Given the description of an element on the screen output the (x, y) to click on. 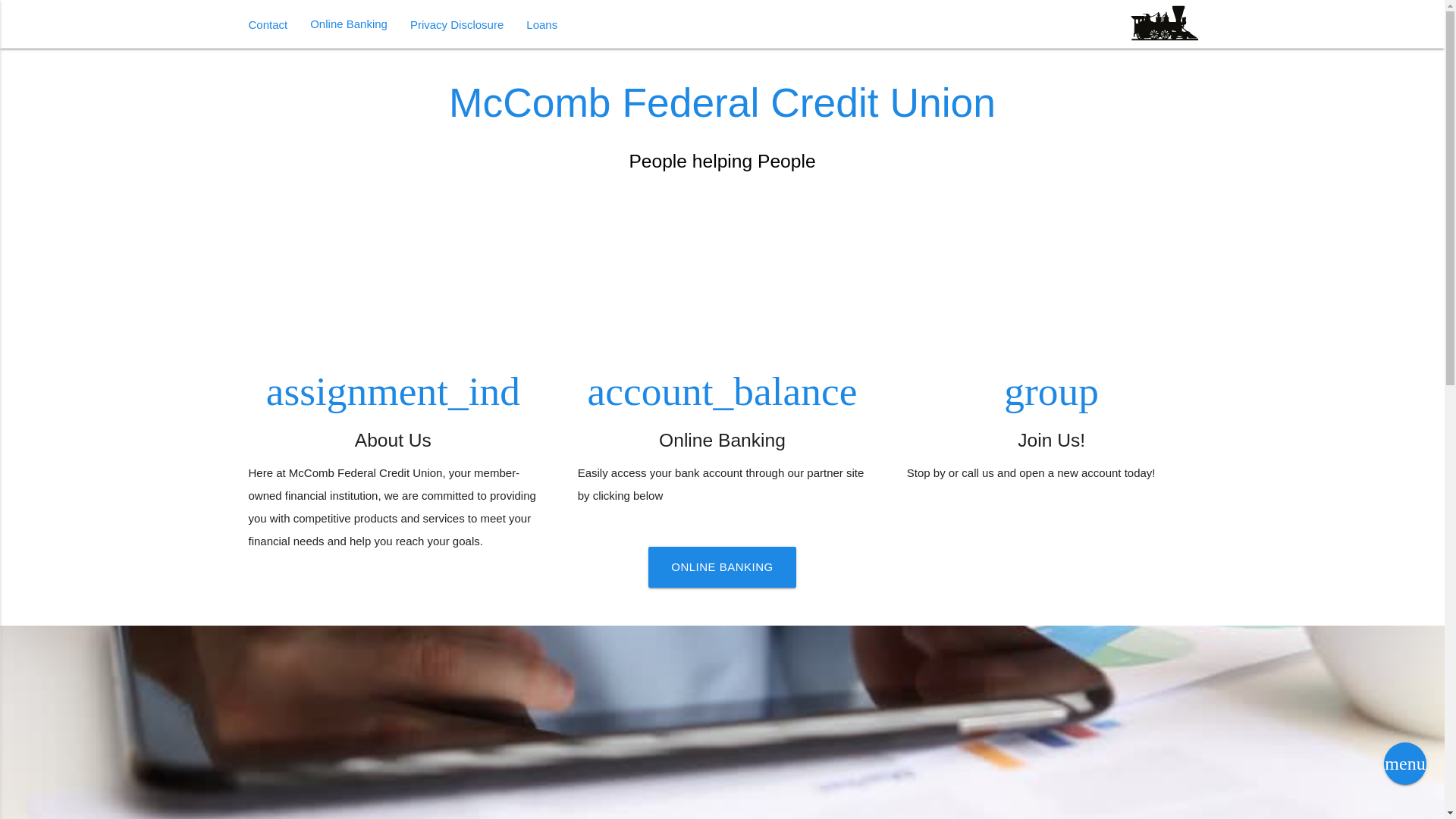
Online Banking (348, 24)
Privacy Disclosure (456, 24)
Contact (266, 24)
menu (1405, 763)
Loans (542, 24)
ONLINE BANKING (721, 567)
